Given the description of an element on the screen output the (x, y) to click on. 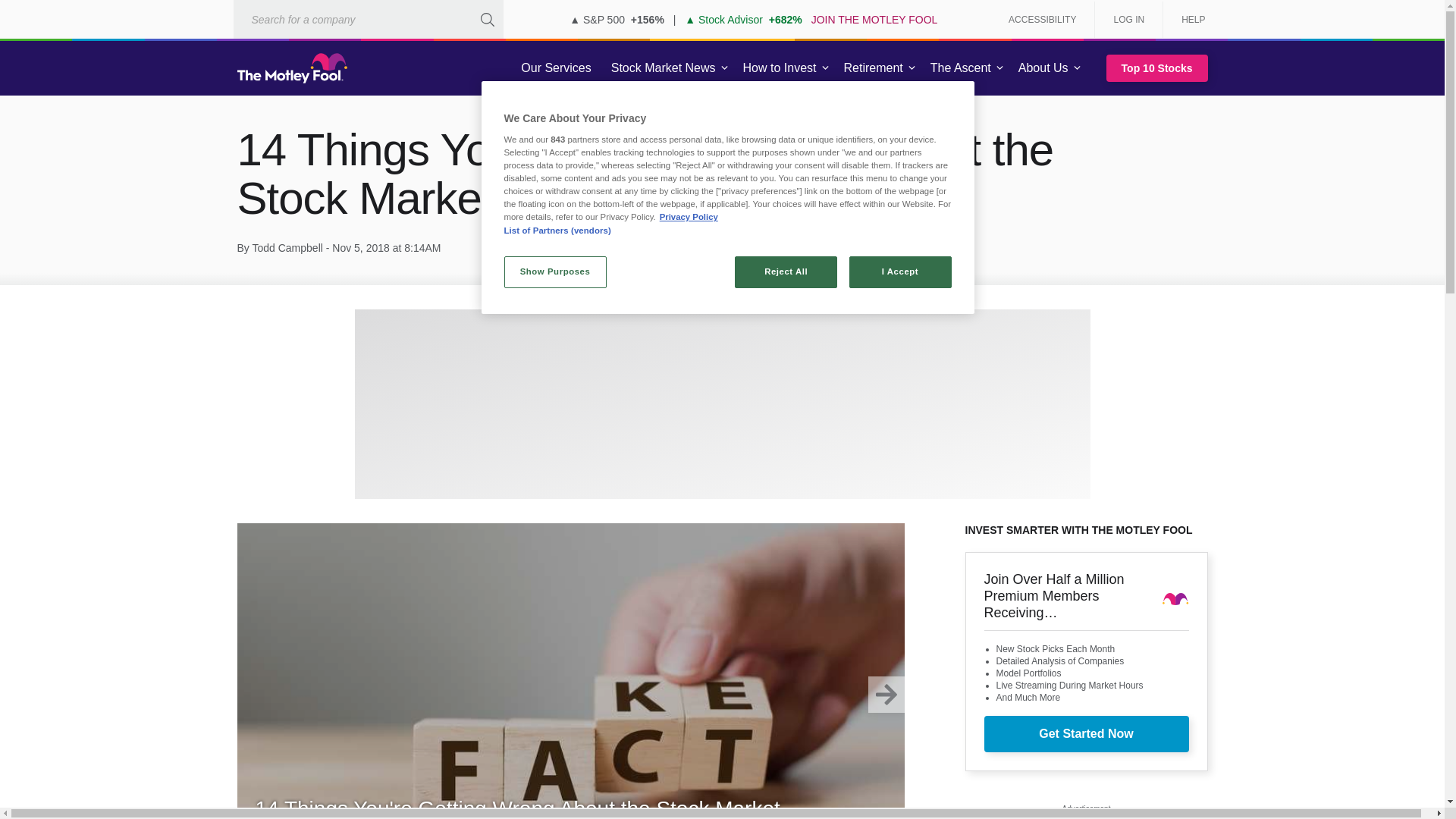
HELP (1187, 19)
How to Invest (779, 67)
Stock Market News (662, 67)
Our Services (555, 67)
ACCESSIBILITY (1042, 19)
LOG IN (1128, 19)
